Given the description of an element on the screen output the (x, y) to click on. 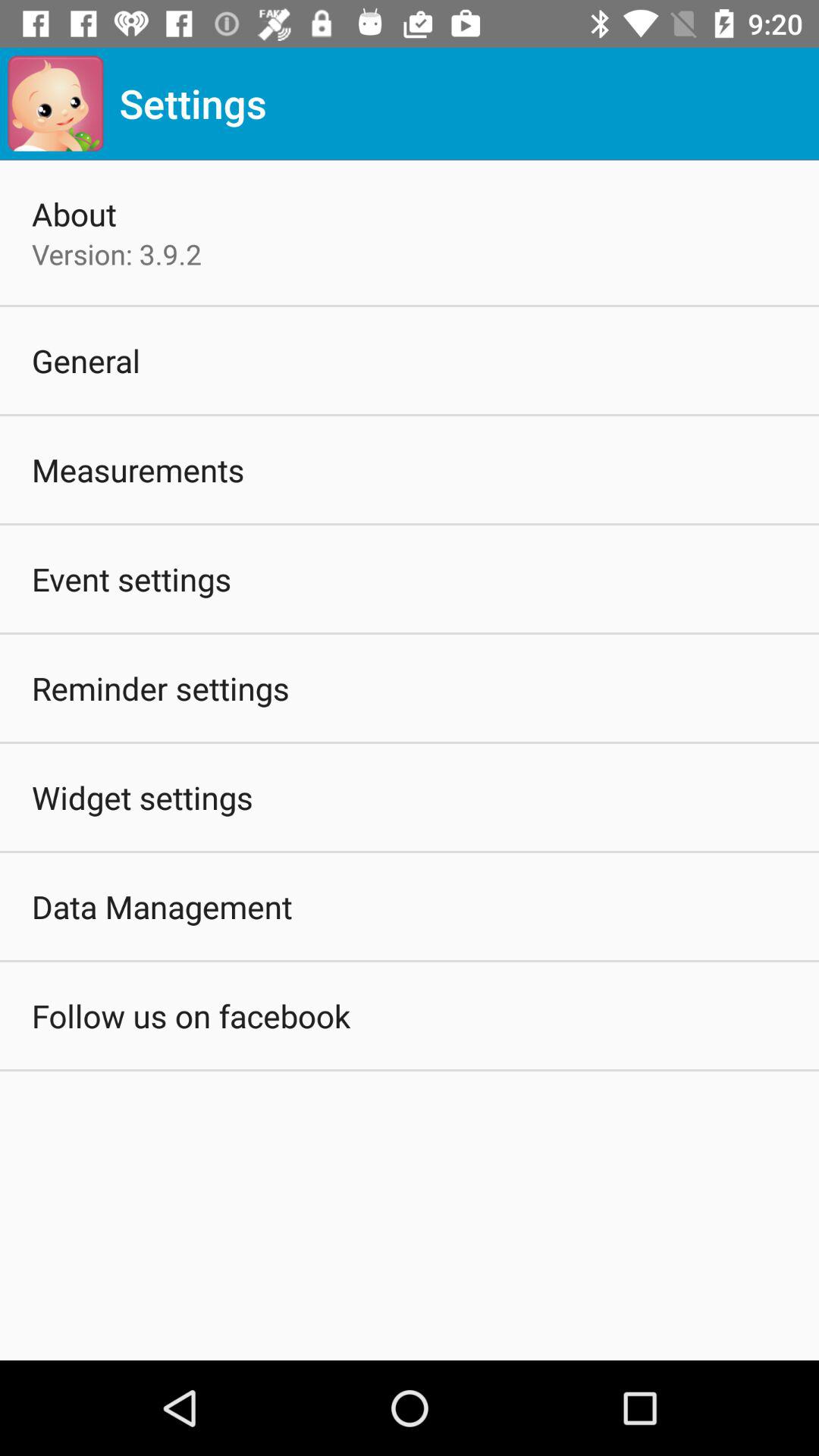
turn off app below the general icon (137, 469)
